Given the description of an element on the screen output the (x, y) to click on. 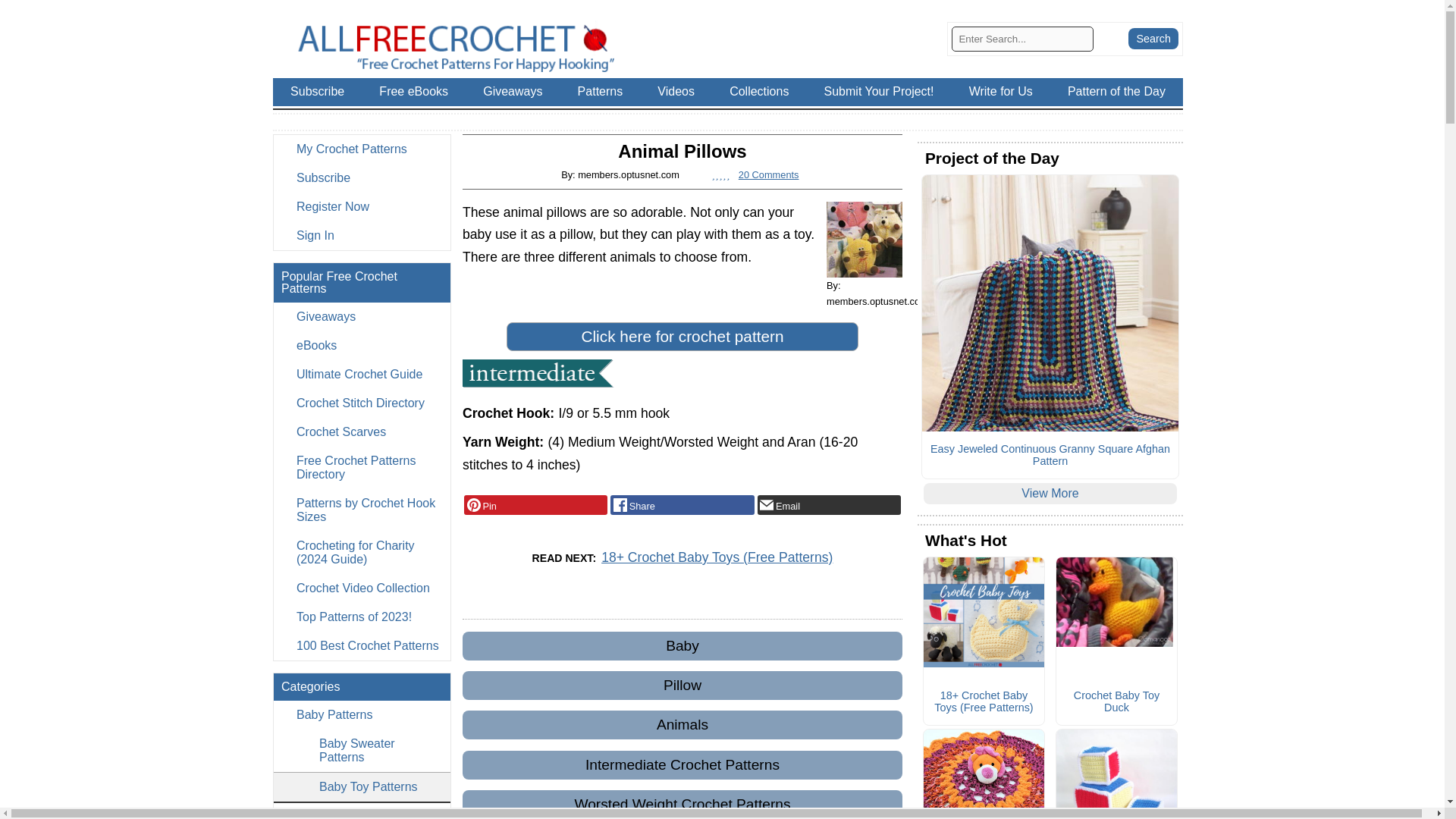
Sign In (361, 235)
My Crochet Patterns (361, 149)
Search (1152, 38)
Facebook (682, 505)
Email (829, 505)
Register Now (361, 206)
Subscribe (361, 177)
